Given the description of an element on the screen output the (x, y) to click on. 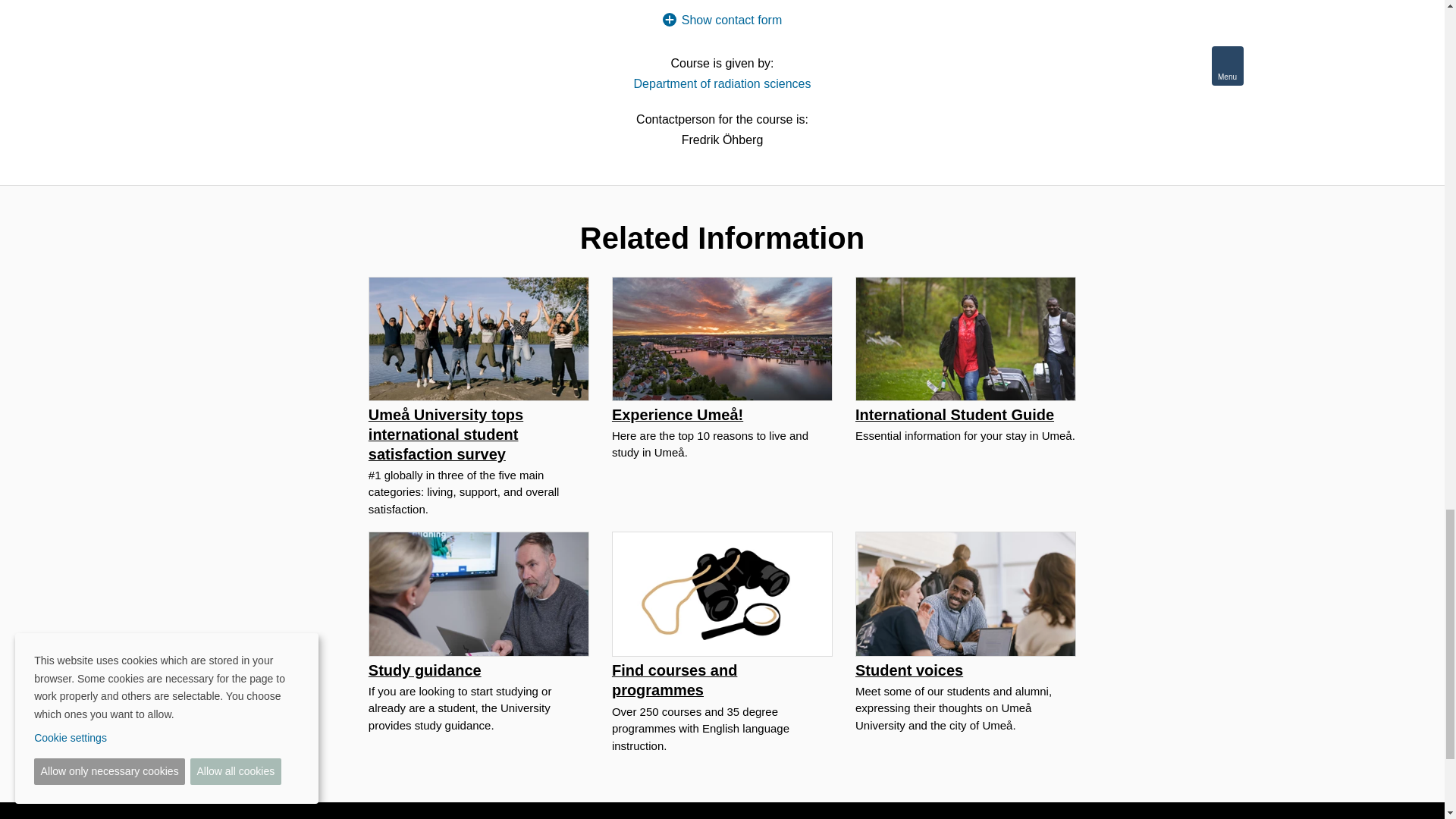
Show contact form (722, 19)
